Given the description of an element on the screen output the (x, y) to click on. 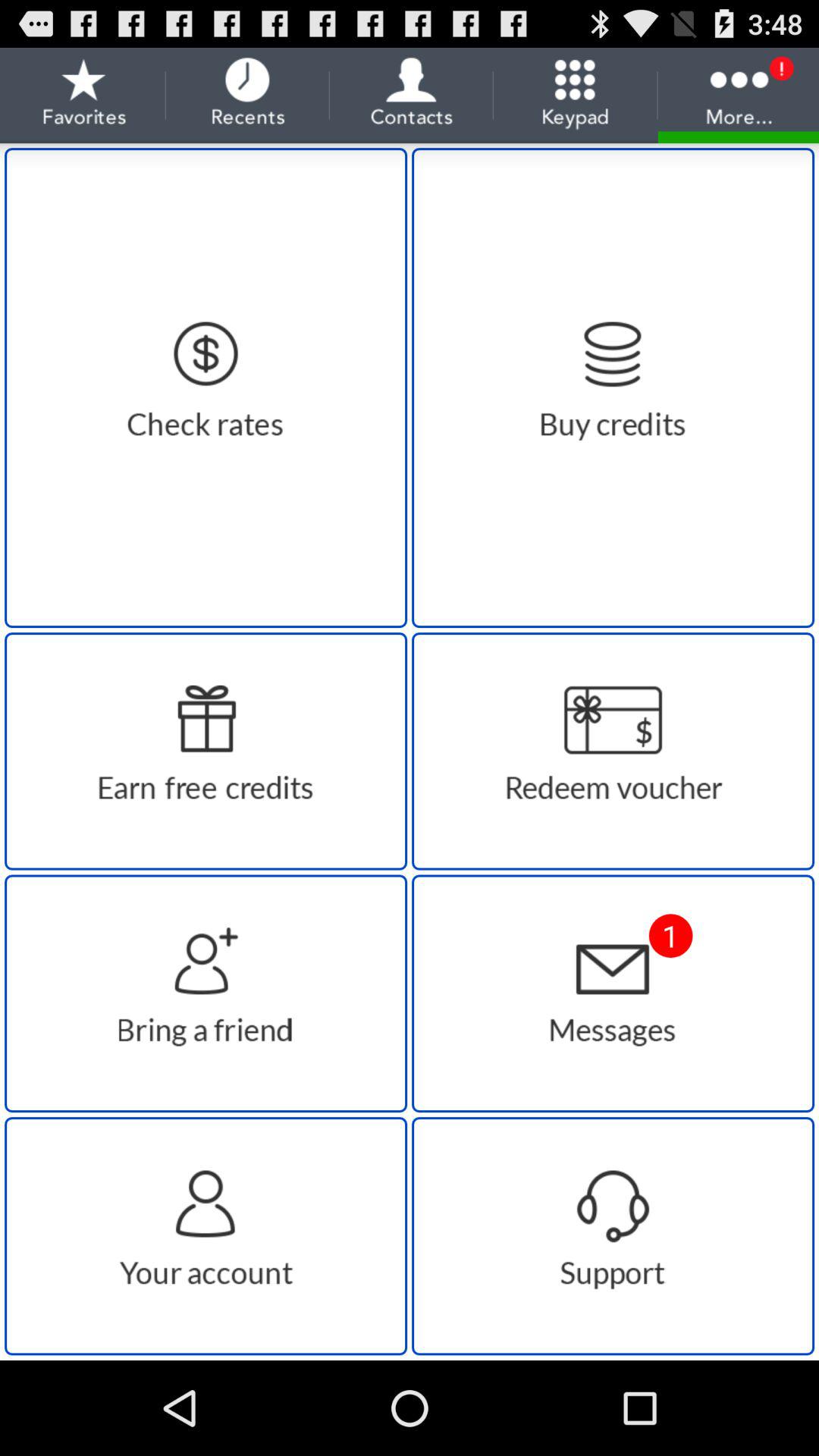
select check rates (205, 387)
